Given the description of an element on the screen output the (x, y) to click on. 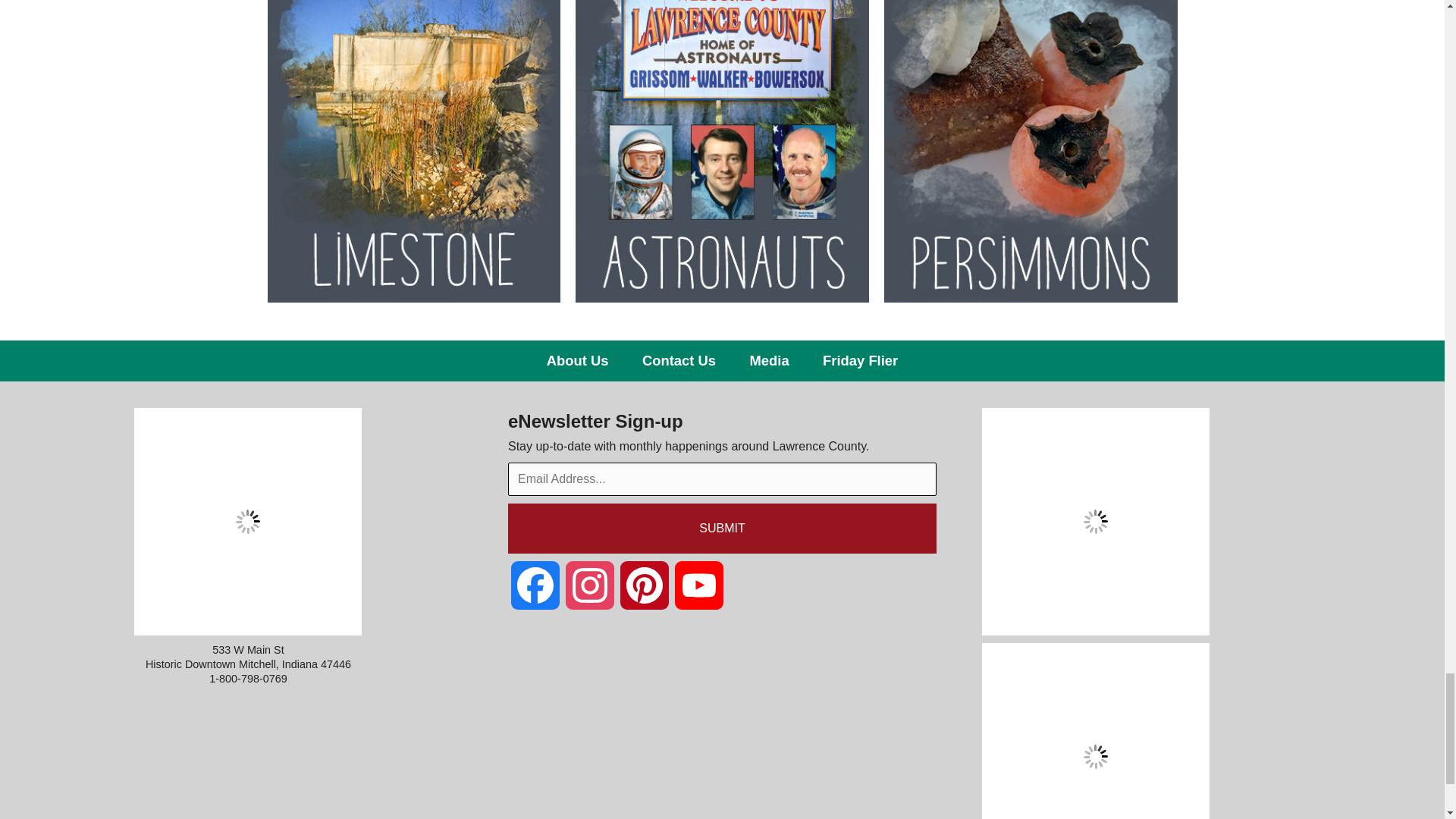
SUBMIT (722, 528)
